Given the description of an element on the screen output the (x, y) to click on. 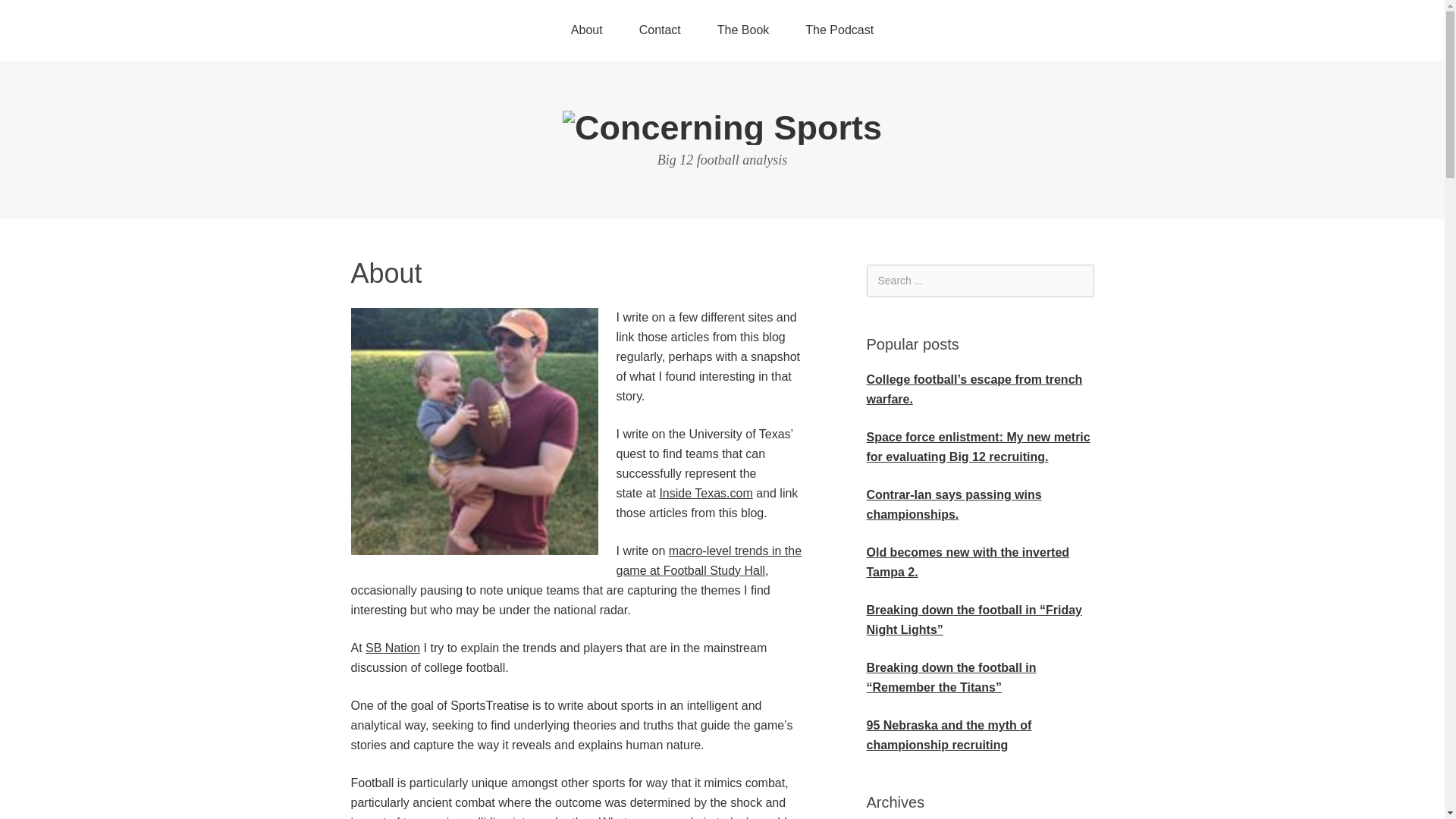
Contrar-Ian says passing wins championships. (953, 504)
macro-level trends in the game at Football Study Hall (708, 560)
Inside Texas.com (705, 492)
Contact (659, 30)
The Podcast (839, 30)
Old becomes new with the inverted Tampa 2. (967, 562)
About (587, 30)
SB Nation (392, 647)
The Book (742, 30)
95 Nebraska and the myth of championship recruiting (948, 735)
Search for: (979, 280)
Concerning Sports (722, 127)
